Given the description of an element on the screen output the (x, y) to click on. 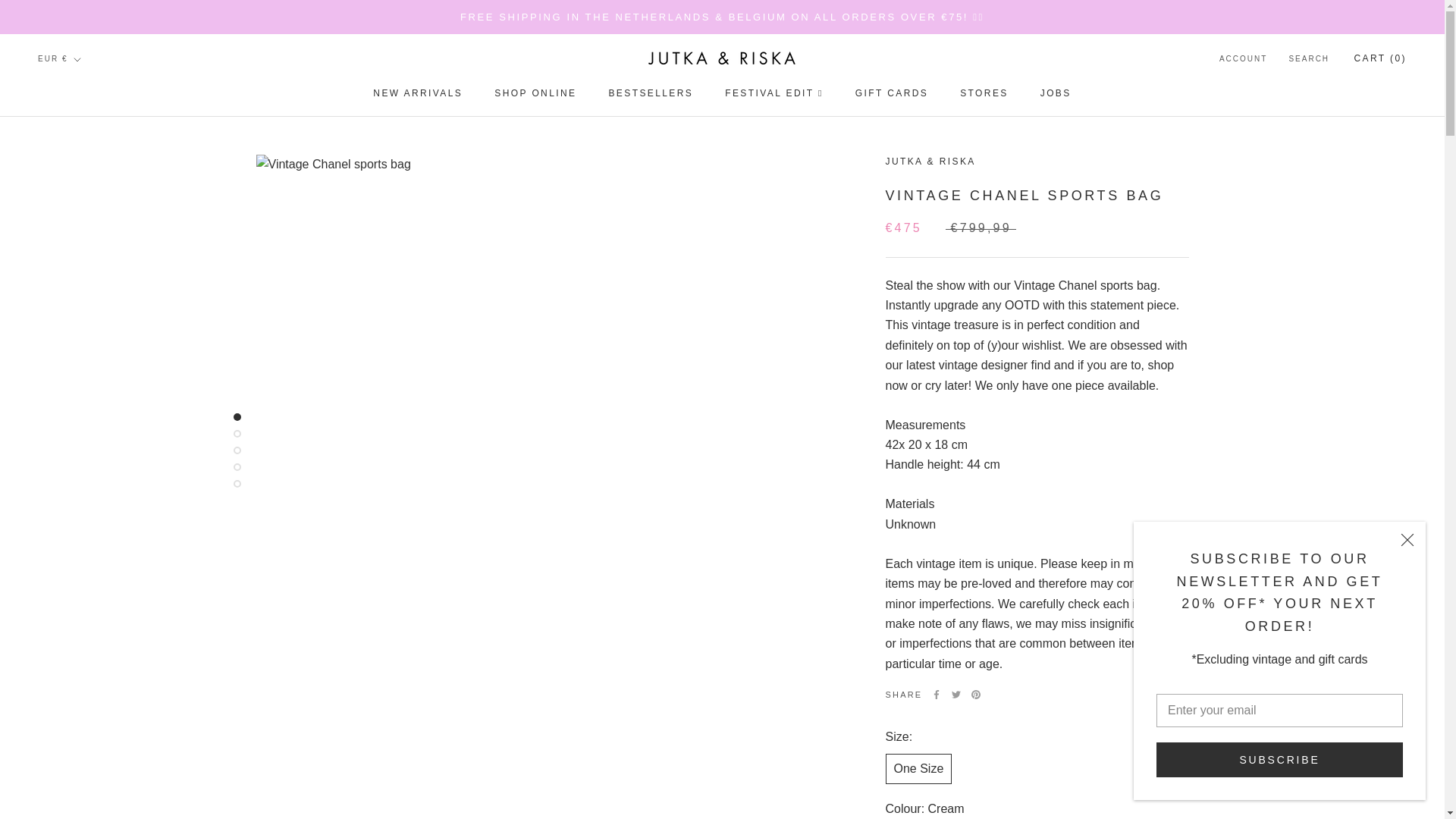
SUBSCRIBE (1279, 759)
